Given the description of an element on the screen output the (x, y) to click on. 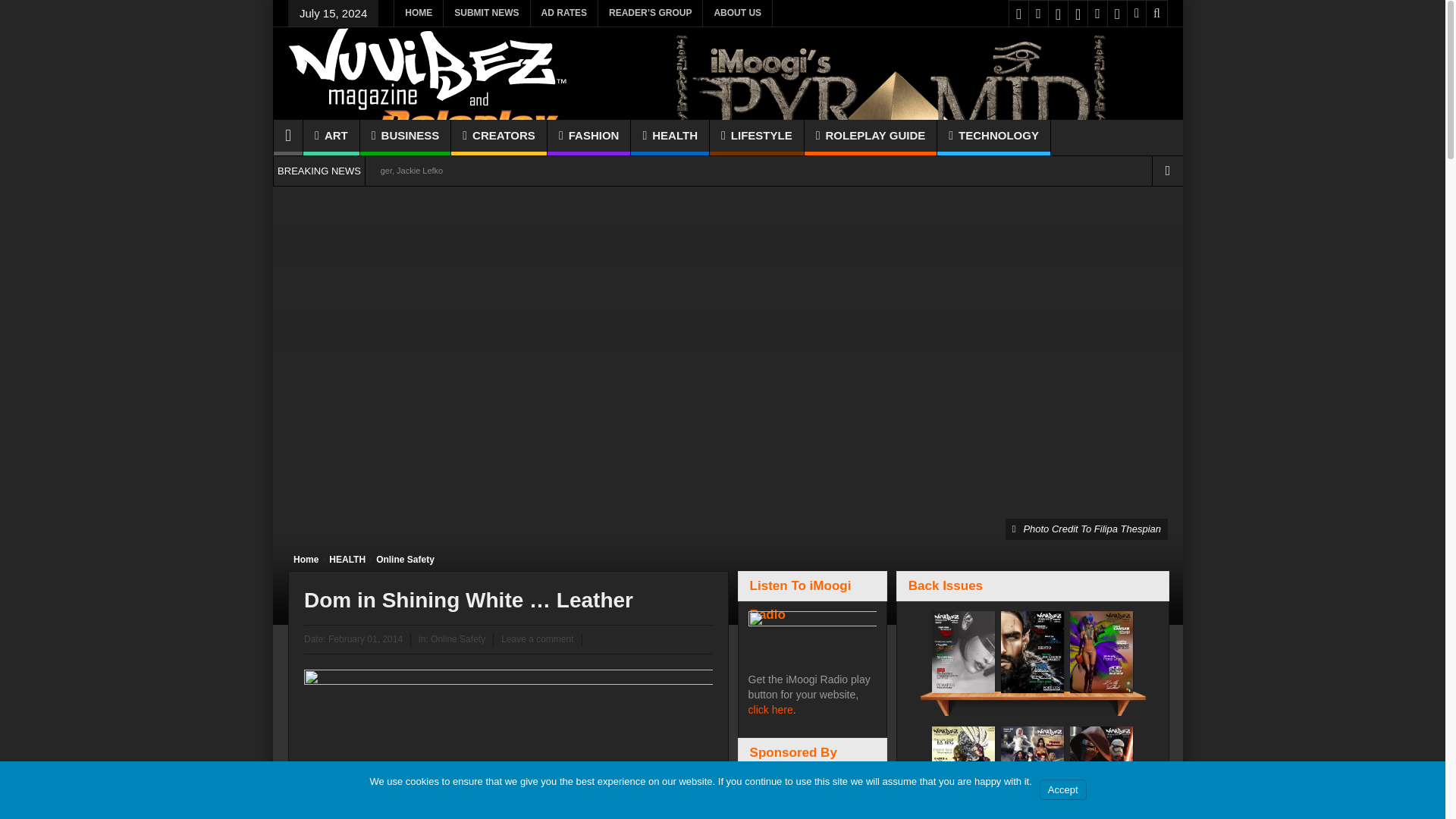
Nu Vibez Magazine (428, 102)
Click Here To Play iMoogi Radio (812, 634)
ABOUT US (737, 13)
BUSINESS (405, 137)
AD RATES (563, 13)
SUBMIT NEWS (486, 13)
HEALTH (347, 558)
CREATORS (499, 137)
Online Safety (405, 558)
ART (330, 137)
HOME (418, 13)
